Given the description of an element on the screen output the (x, y) to click on. 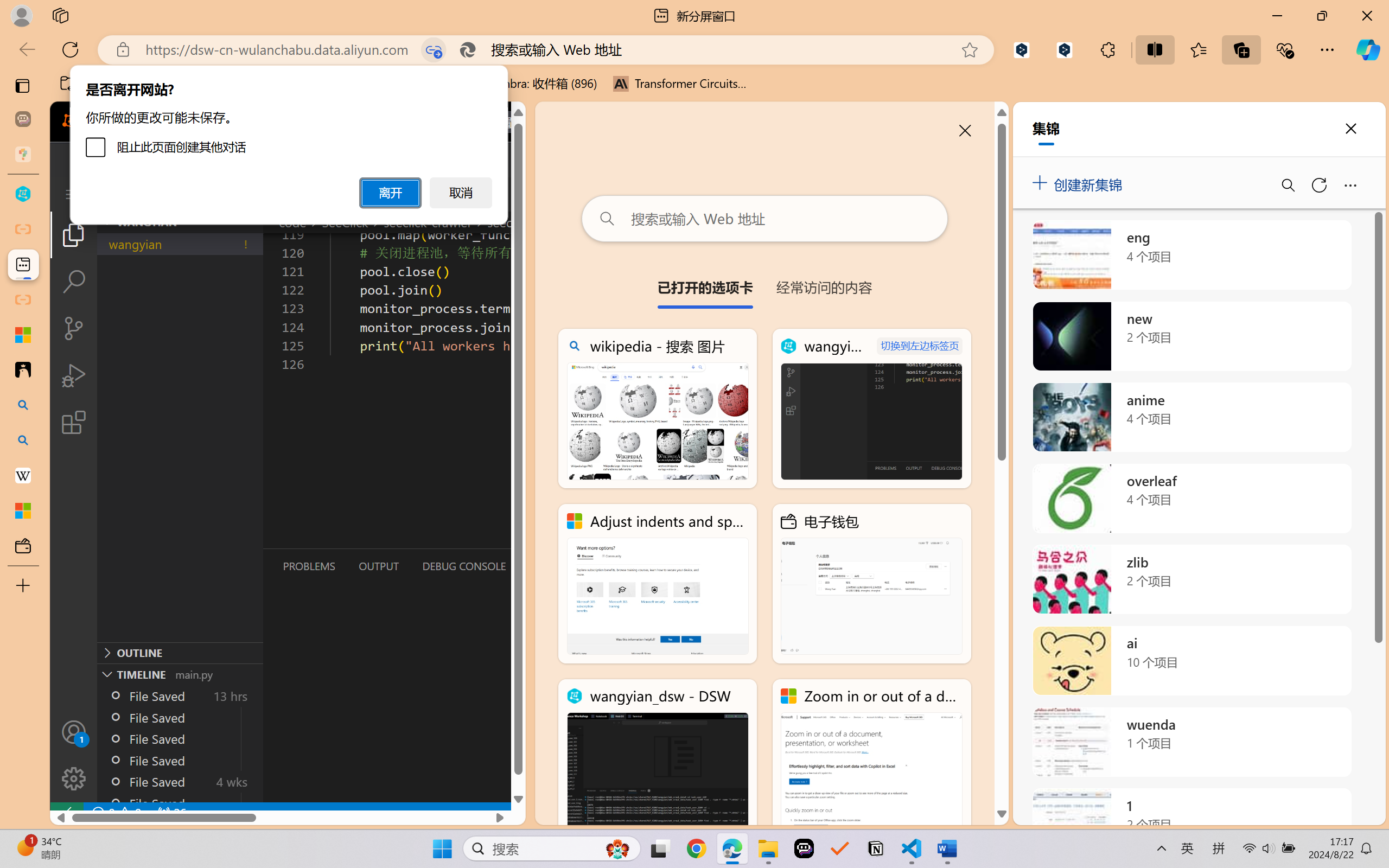
Copilot (Ctrl+Shift+.) (1368, 49)
Transformer Circuits Thread (680, 83)
Timeline Section (179, 673)
Debug Console (Ctrl+Shift+Y) (463, 565)
